Given the description of an element on the screen output the (x, y) to click on. 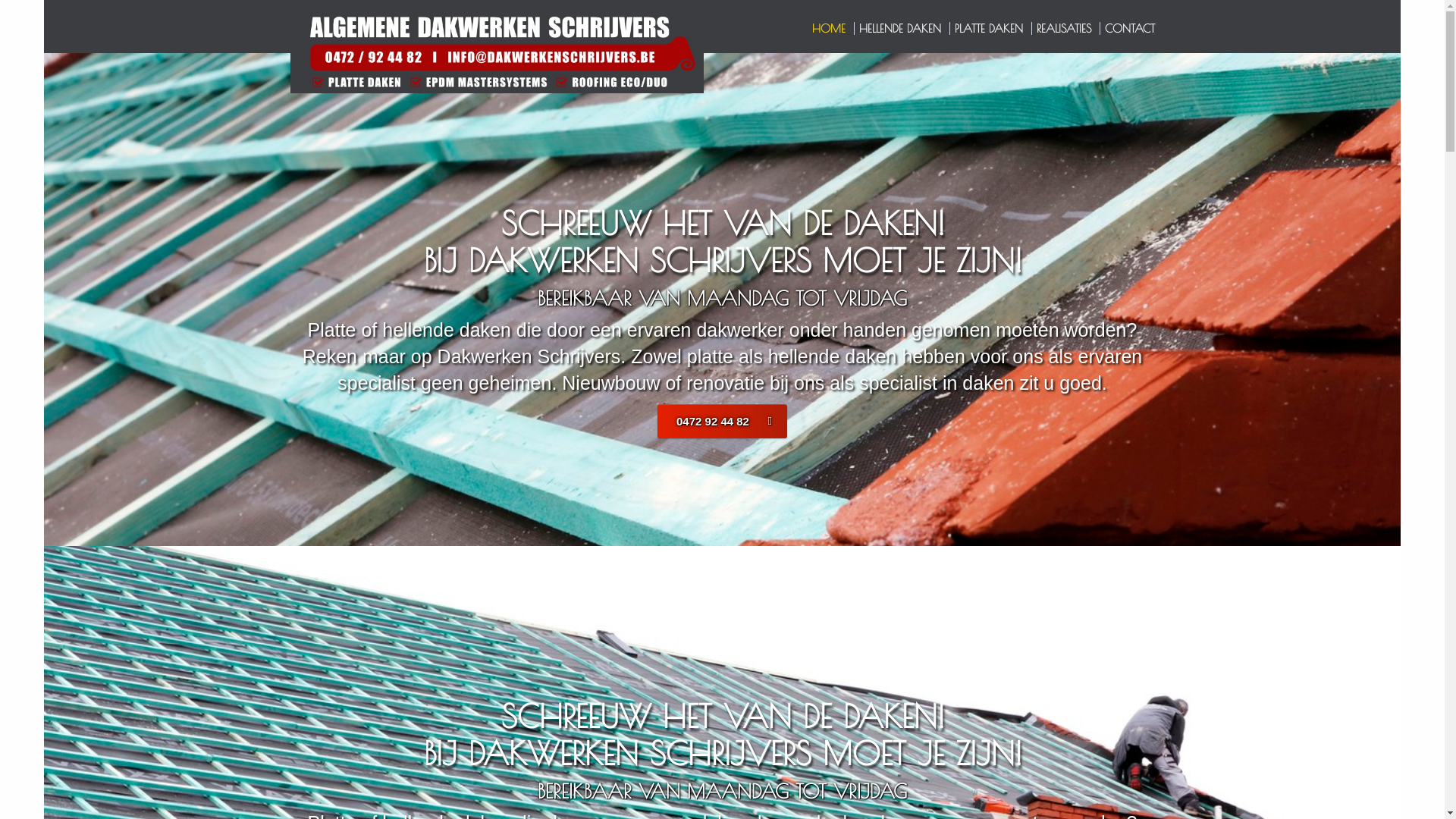
REALISATIES Element type: text (1064, 27)
CONTACT Element type: text (1129, 27)
0472 92 44 82 Element type: text (722, 421)
HOME Element type: text (829, 27)
HELLENDE DAKEN Element type: text (901, 27)
PLATTE DAKEN Element type: text (989, 27)
